Given the description of an element on the screen output the (x, y) to click on. 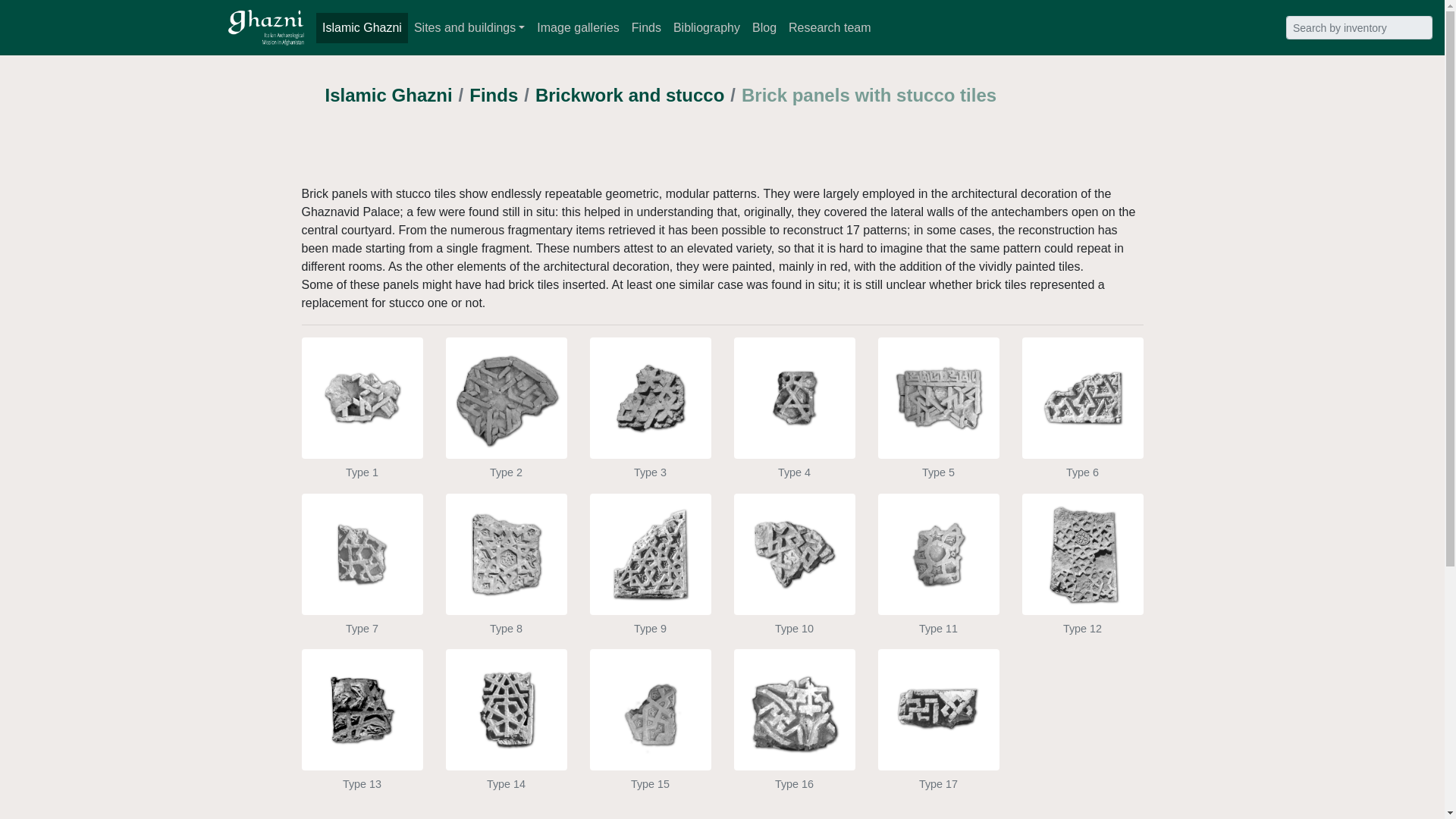
Type 1 (362, 436)
Type 1 (362, 436)
Type 11 (937, 593)
Research team (830, 28)
Type 13 (362, 748)
Type 12 (1082, 593)
Type 2 (506, 436)
Type 10 (794, 593)
Image galleries (578, 28)
Finds (646, 28)
Type 8 (506, 593)
Type 16 (794, 748)
Bibliography (705, 28)
Type 17 (937, 748)
Type 7 (362, 593)
